Given the description of an element on the screen output the (x, y) to click on. 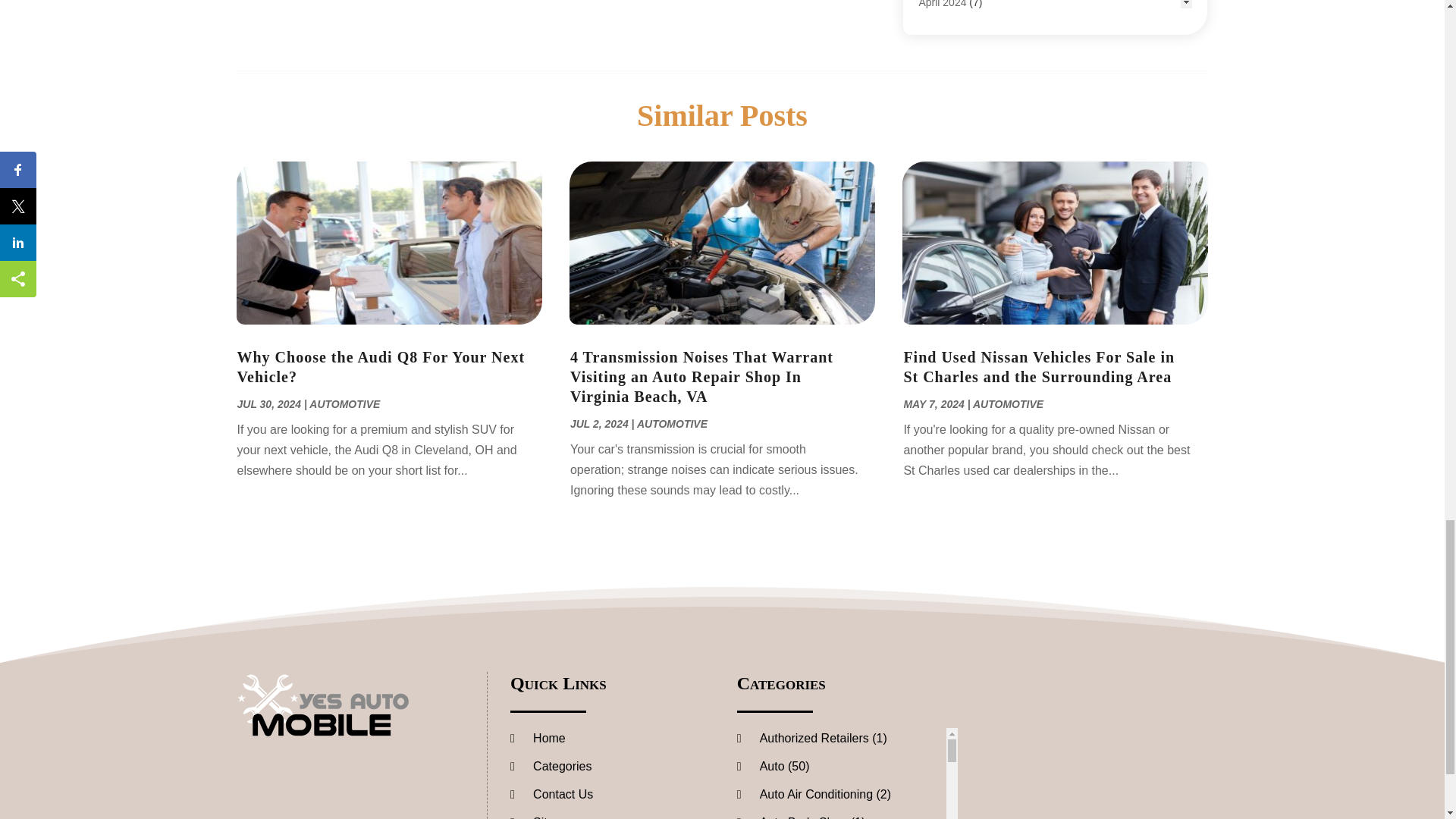
yesautomobiles (321, 703)
Automotive (944, 21)
Automobile Maintenance (976, 3)
